Given the description of an element on the screen output the (x, y) to click on. 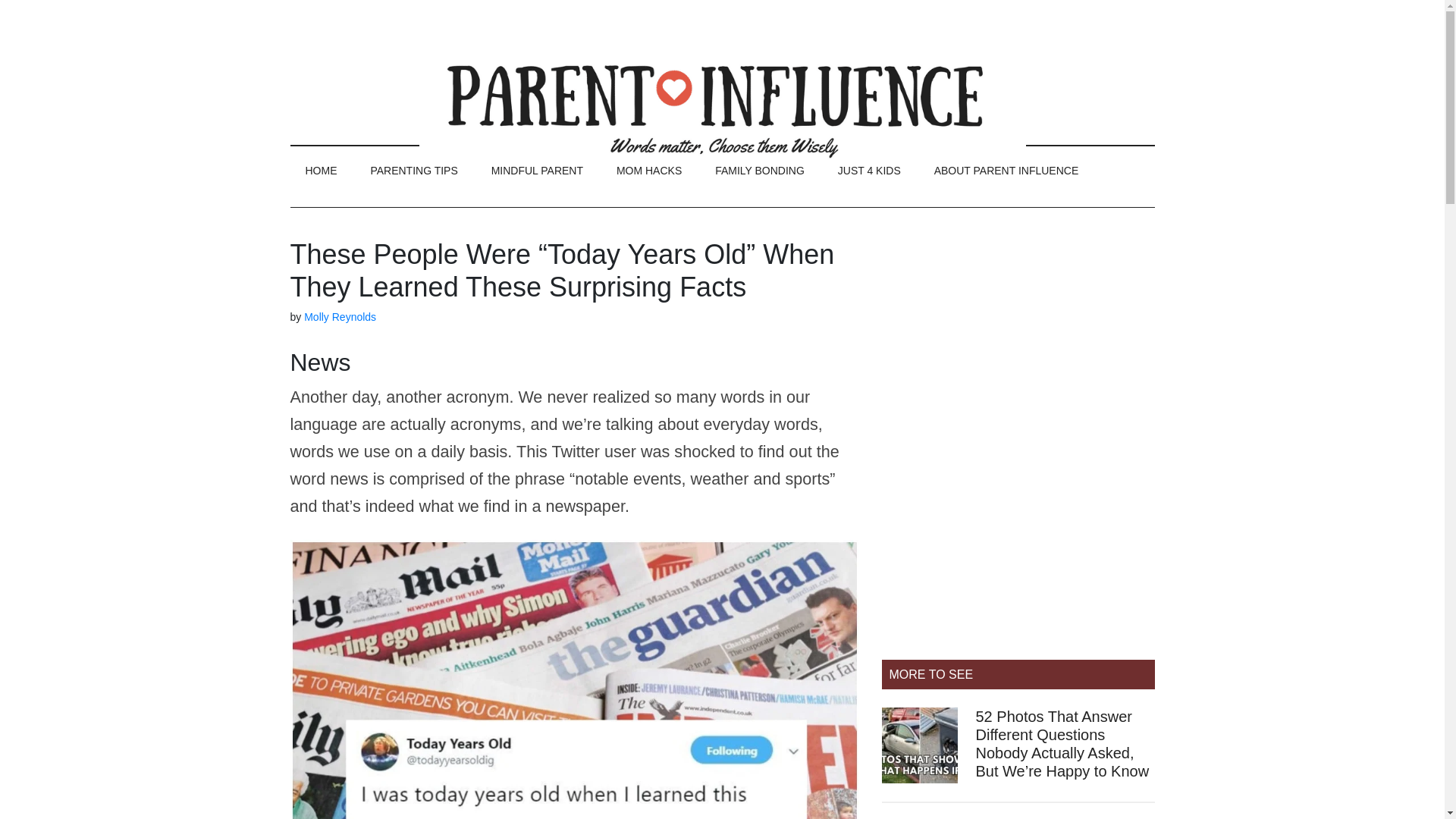
FAMILY BONDING (759, 170)
HOME (320, 170)
PARENTING TIPS (413, 170)
Molly Reynolds (339, 316)
MOM HACKS (649, 170)
MINDFUL PARENT (537, 170)
ABOUT PARENT INFLUENCE (1006, 170)
JUST 4 KIDS (868, 170)
